Given the description of an element on the screen output the (x, y) to click on. 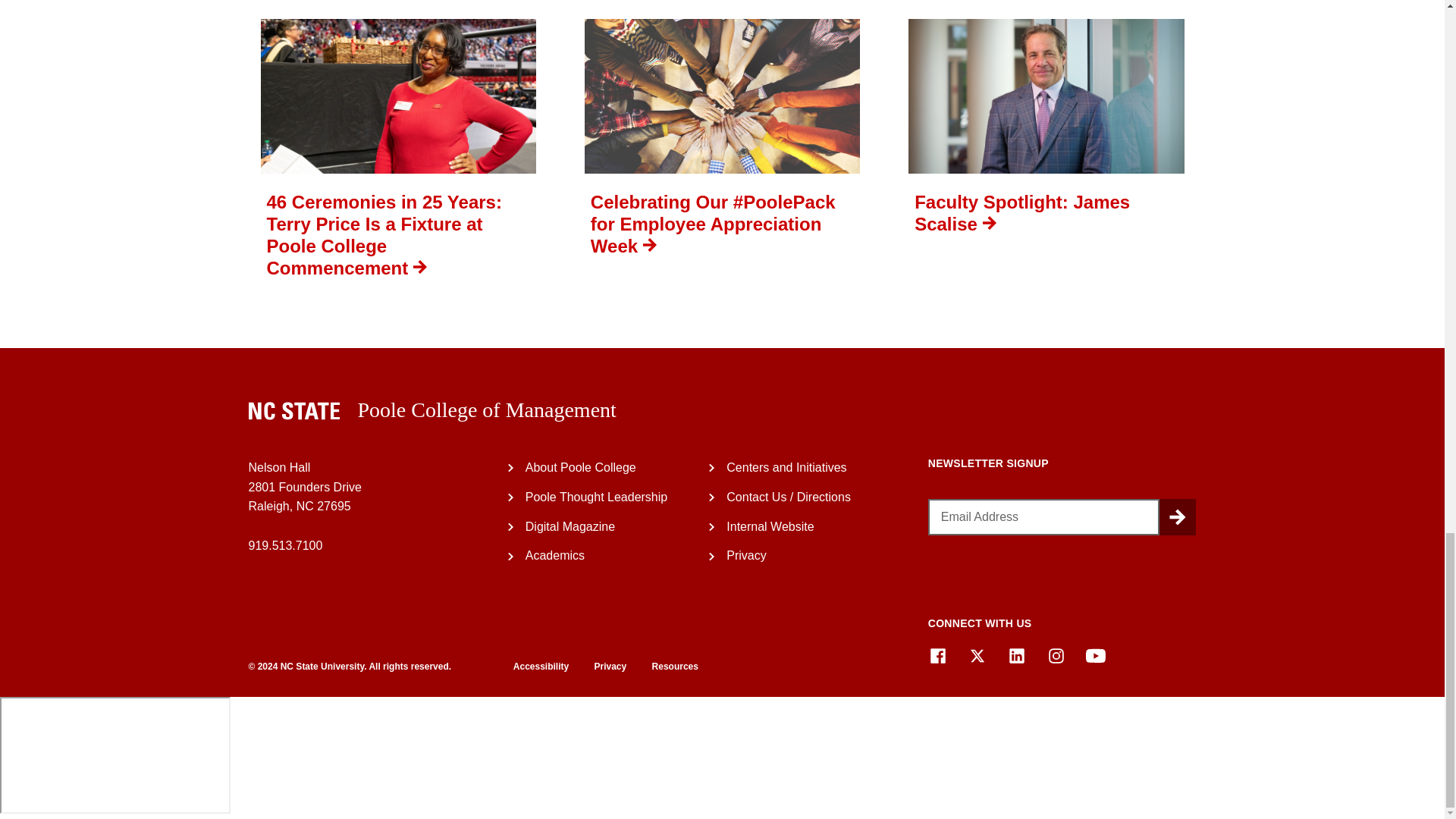
X (977, 655)
YouTube (1095, 655)
Facebook (937, 655)
LinkedIn (1016, 655)
Instagram (1055, 655)
